Given the description of an element on the screen output the (x, y) to click on. 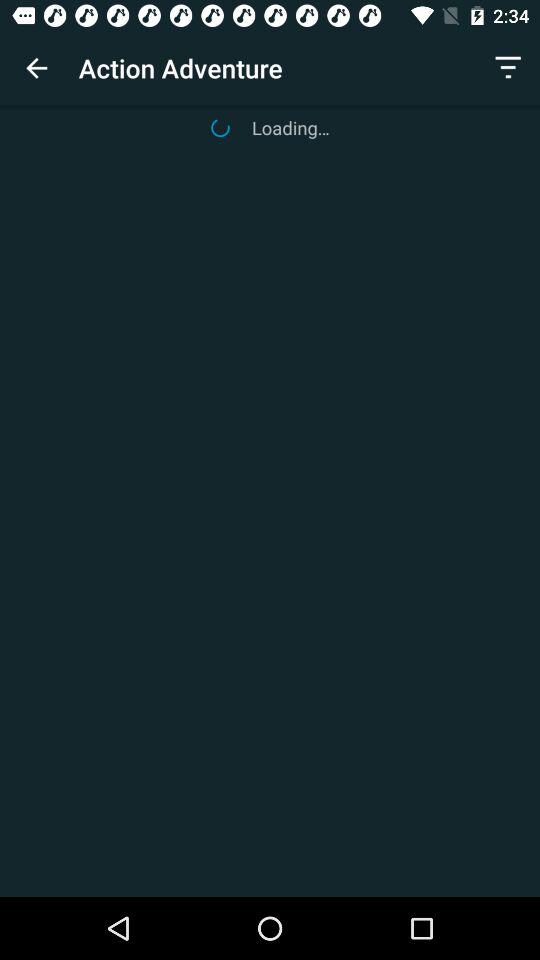
press the icon at the top left corner (36, 68)
